Given the description of an element on the screen output the (x, y) to click on. 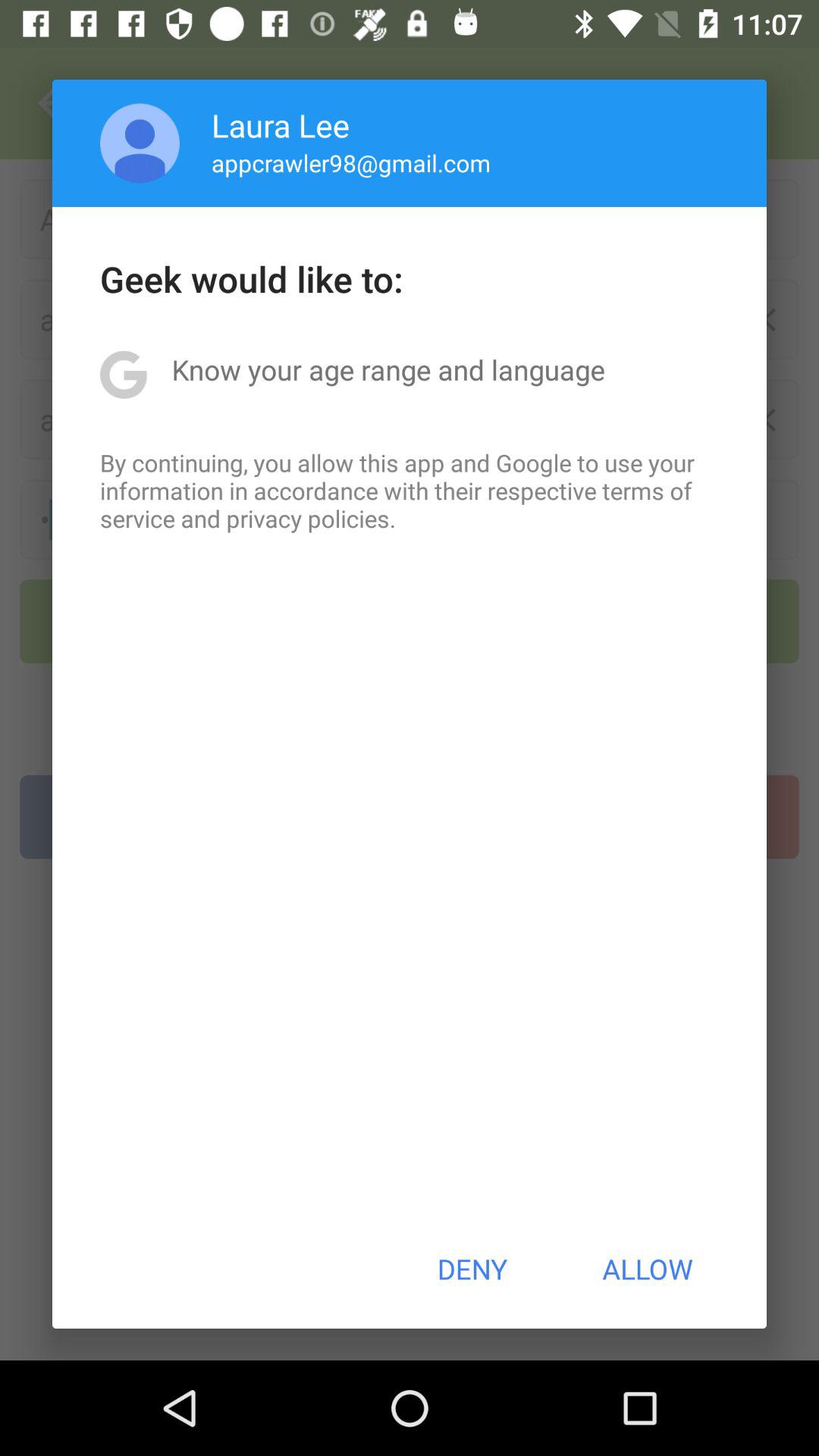
turn off the app below by continuing you (471, 1268)
